Given the description of an element on the screen output the (x, y) to click on. 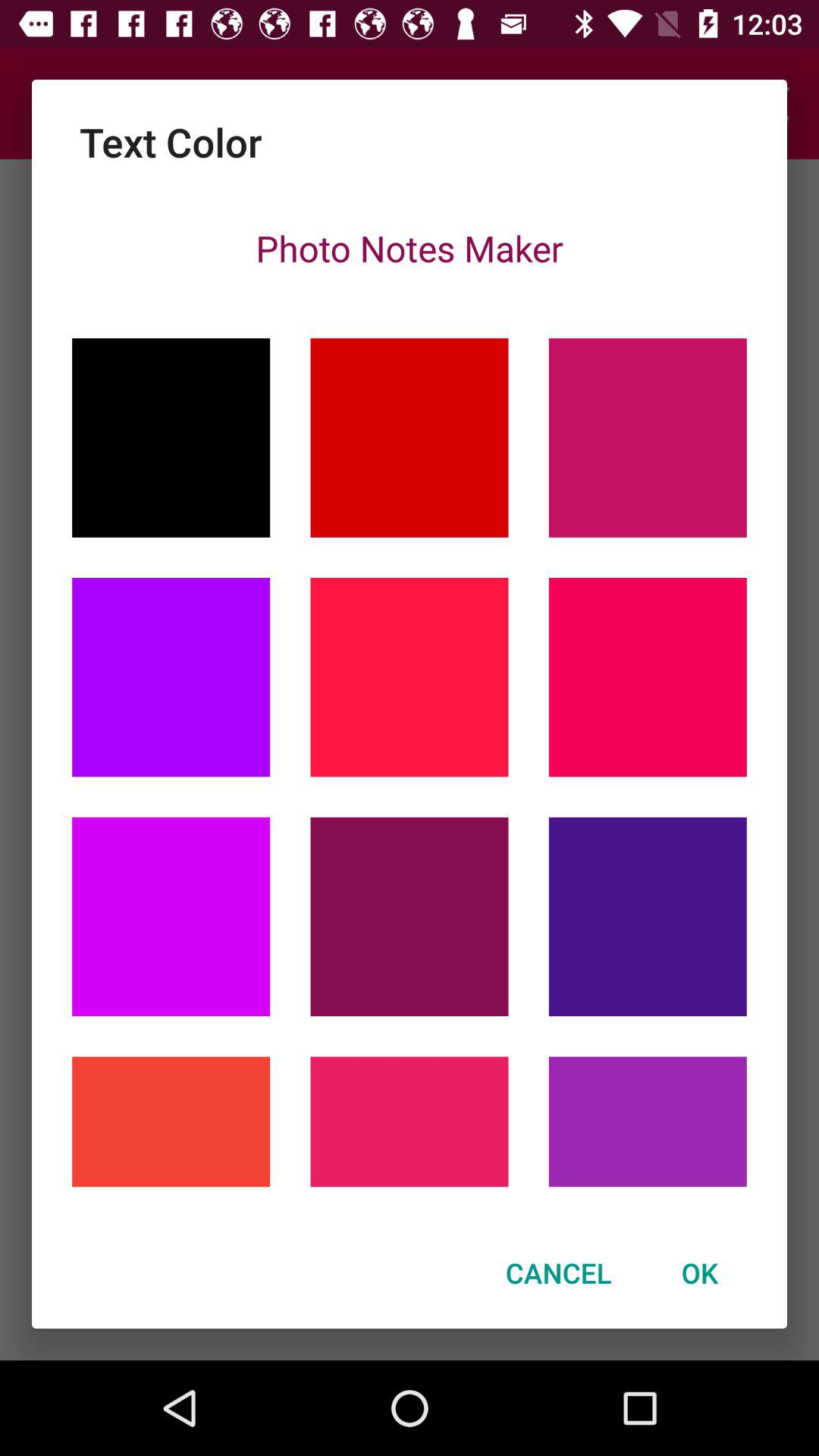
click item to the right of the cancel item (699, 1272)
